Given the description of an element on the screen output the (x, y) to click on. 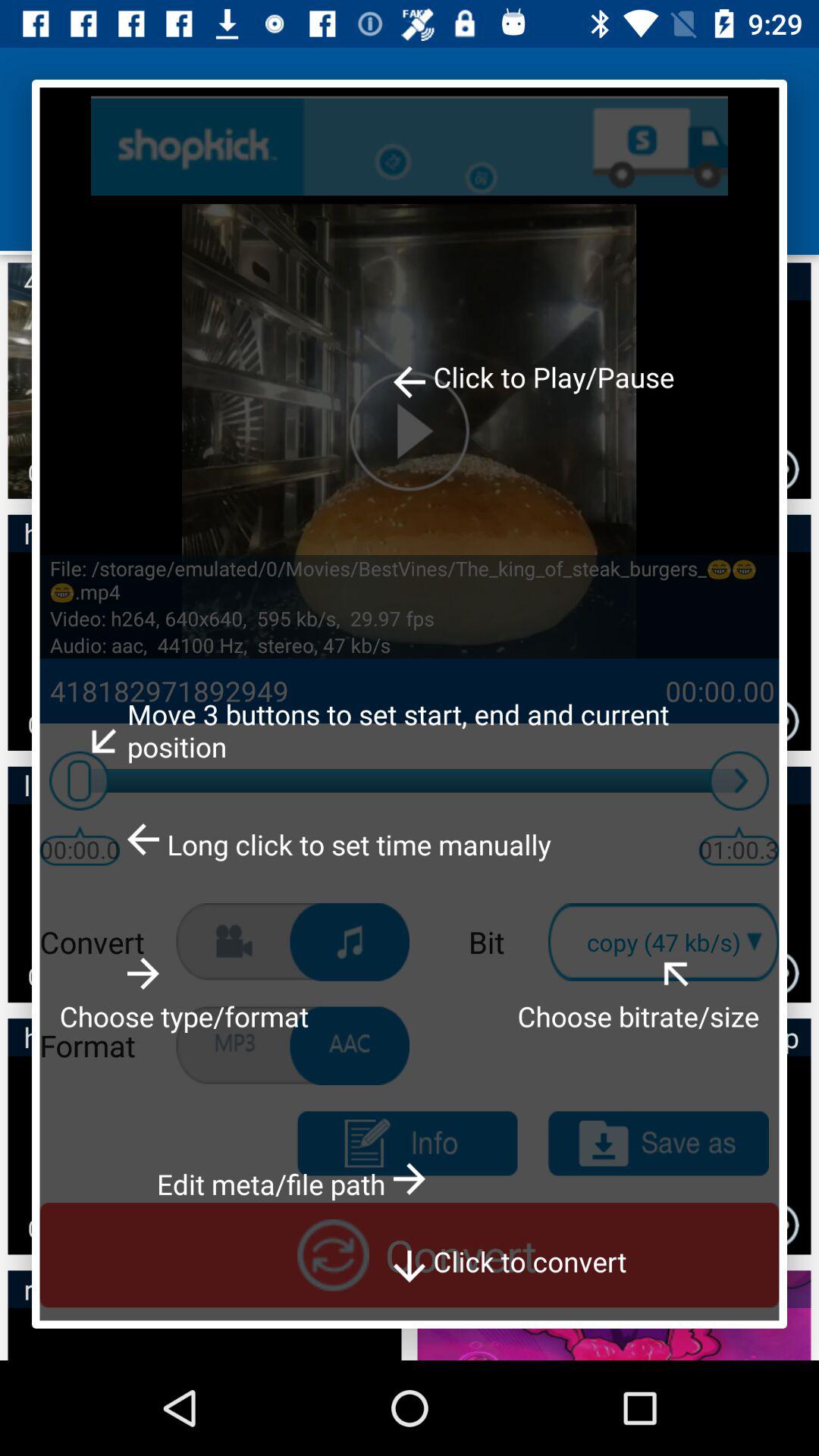
music (349, 942)
